Given the description of an element on the screen output the (x, y) to click on. 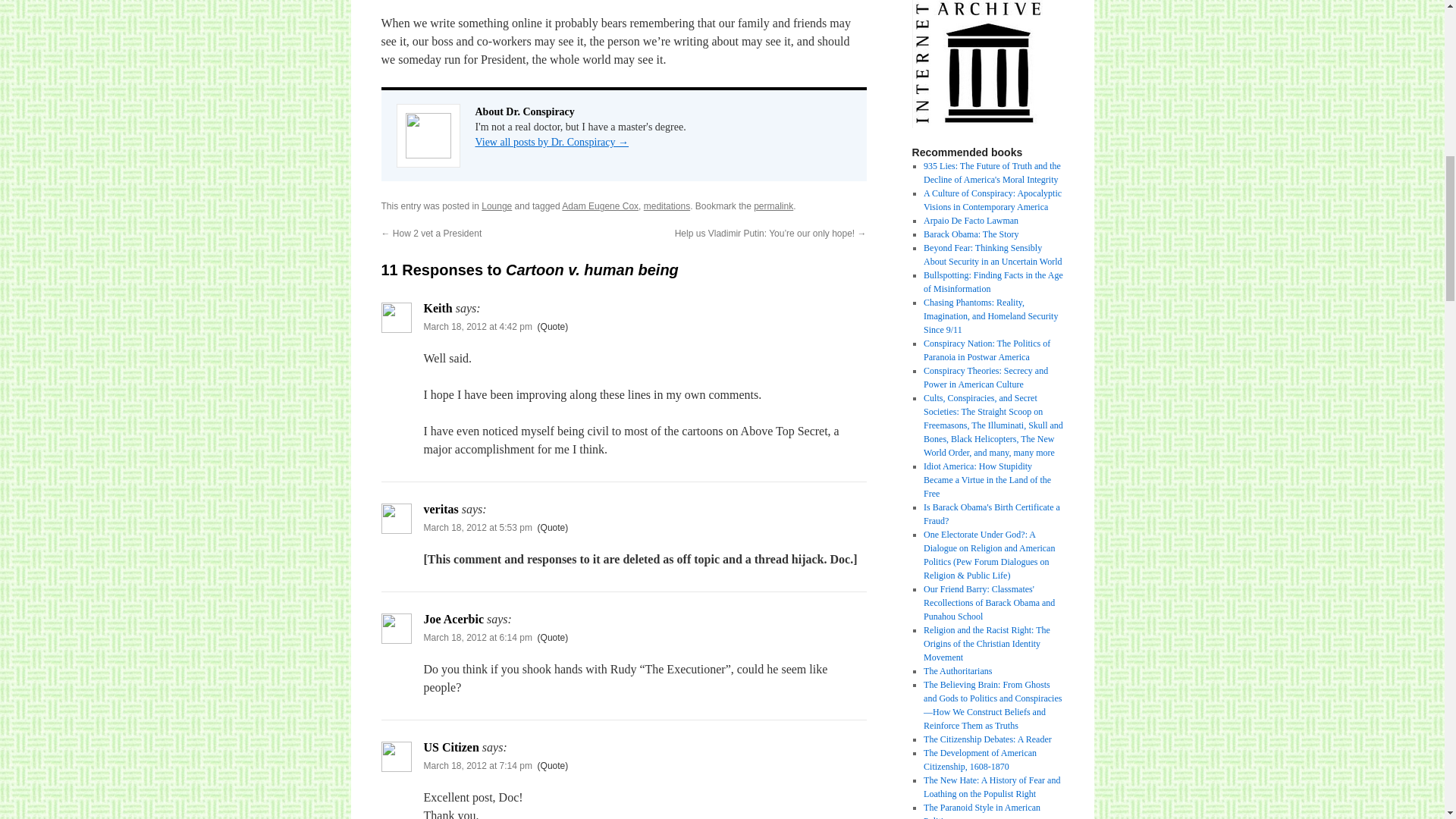
Adam Eugene Cox (600, 205)
Click here or select text to quote comment (553, 326)
March 18, 2012 at 4:42 pm (477, 326)
permalink (773, 205)
March 18, 2012 at 7:14 pm (477, 765)
Permalink to Cartoon v. human being (773, 205)
Click here or select text to quote comment (553, 527)
March 18, 2012 at 6:14 pm (477, 637)
Lounge (496, 205)
Click here or select text to quote comment (553, 765)
